Given the description of an element on the screen output the (x, y) to click on. 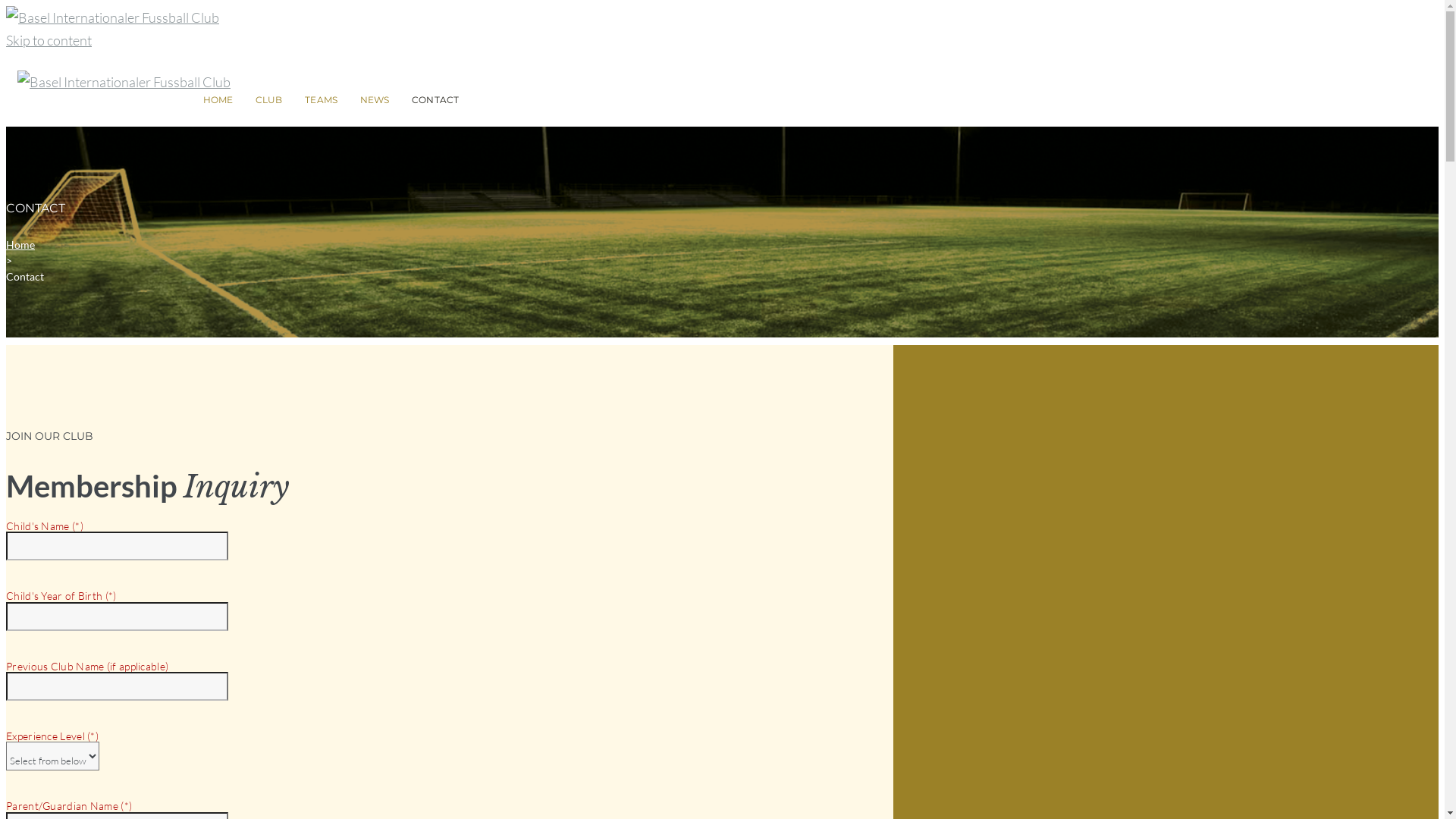
CONTACT Element type: text (434, 100)
TEAMS Element type: text (320, 100)
HOME Element type: text (217, 100)
Skip to content Element type: text (48, 39)
NEWS Element type: text (374, 100)
CLUB Element type: text (268, 100)
Home Element type: text (20, 244)
